Given the description of an element on the screen output the (x, y) to click on. 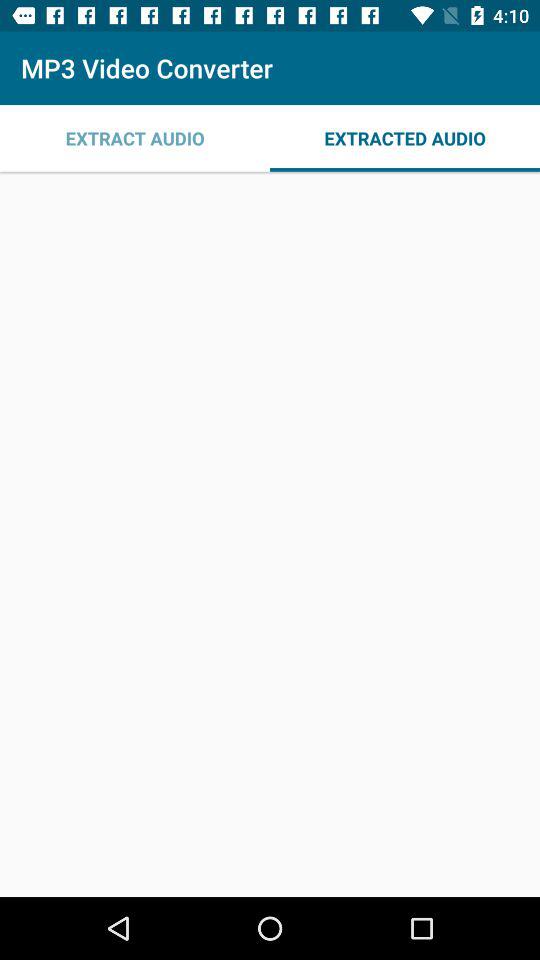
select the icon next to the extract audio item (405, 138)
